Given the description of an element on the screen output the (x, y) to click on. 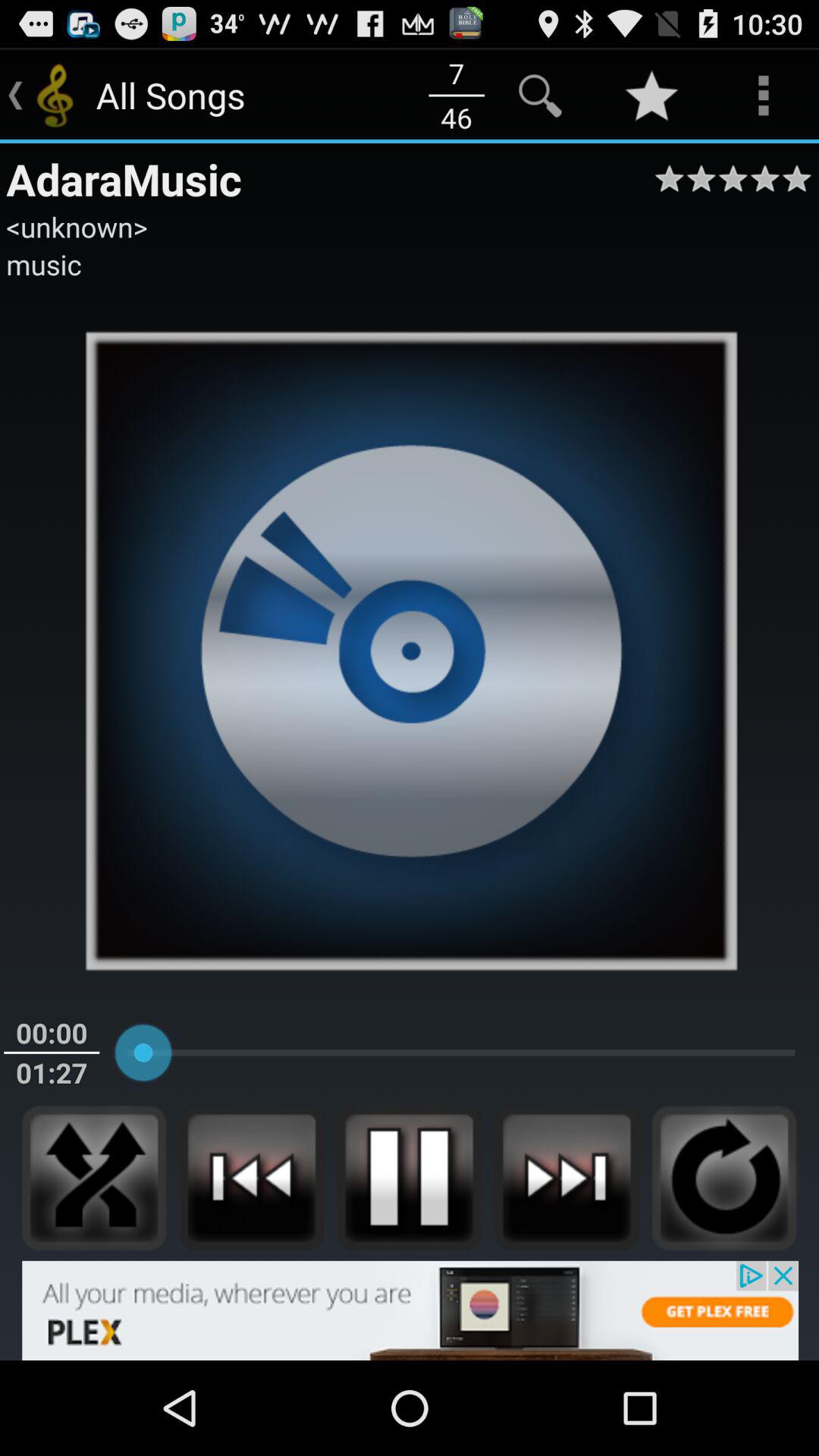
skip back one (251, 1177)
